Given the description of an element on the screen output the (x, y) to click on. 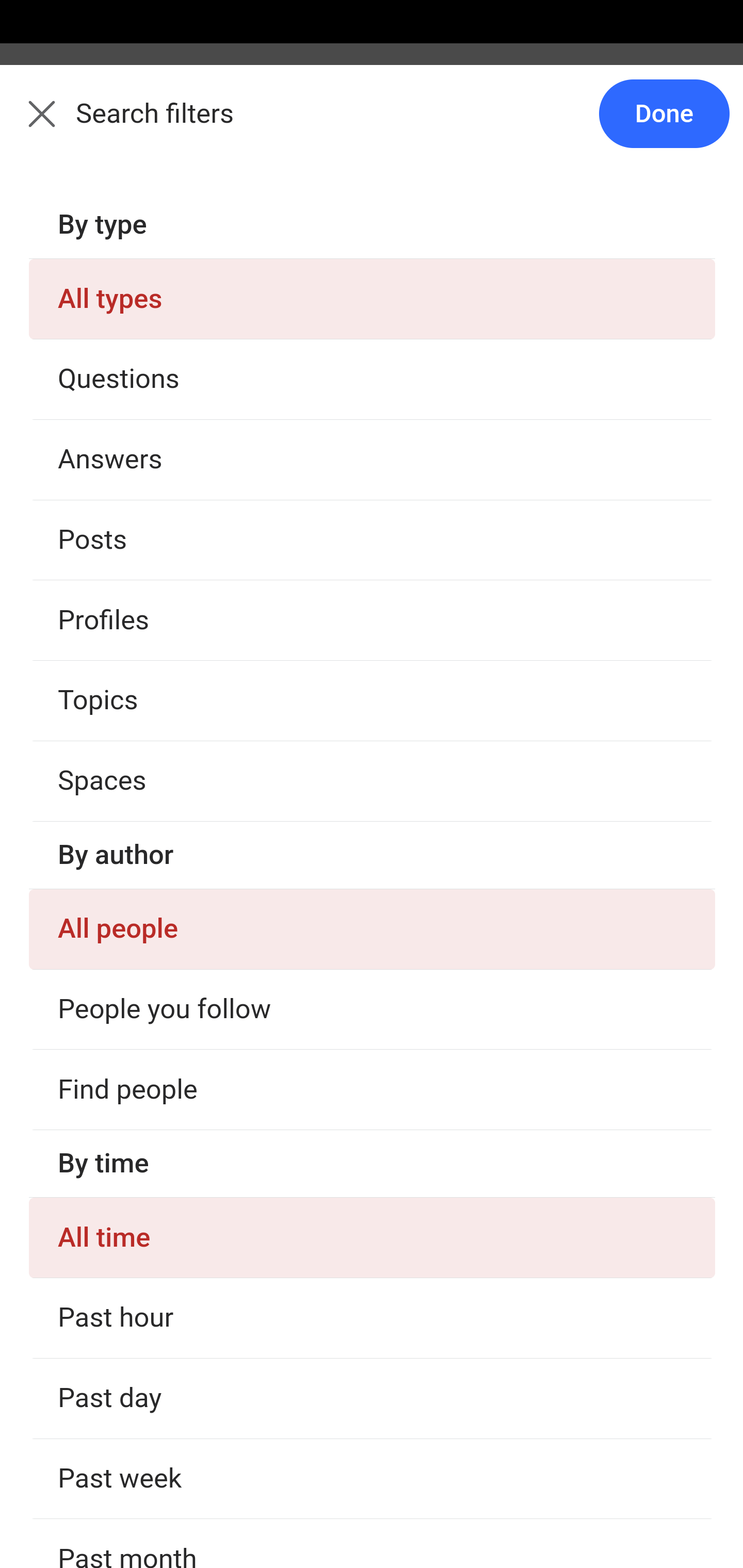
Back Search (371, 125)
Which is better, Arduino or Raspberry Pi? (372, 369)
Answer (125, 475)
Answer (125, 713)
Answer (125, 1237)
Answer (125, 1475)
What is Arduino and when I can use it? (372, 1557)
